Given the description of an element on the screen output the (x, y) to click on. 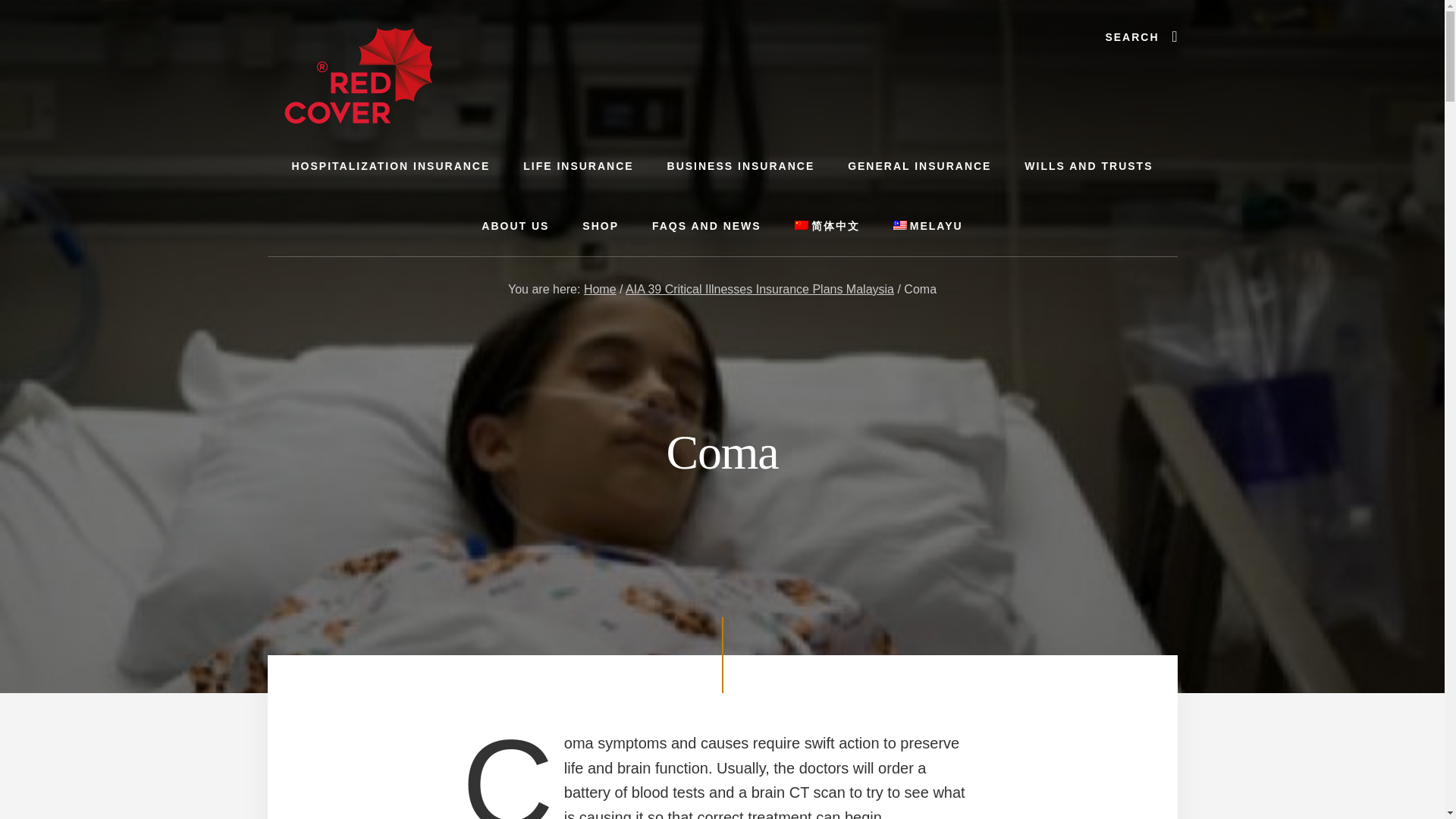
HOSPITALIZATION INSURANCE (390, 166)
Melayu (927, 226)
LIFE INSURANCE (577, 166)
